Given the description of an element on the screen output the (x, y) to click on. 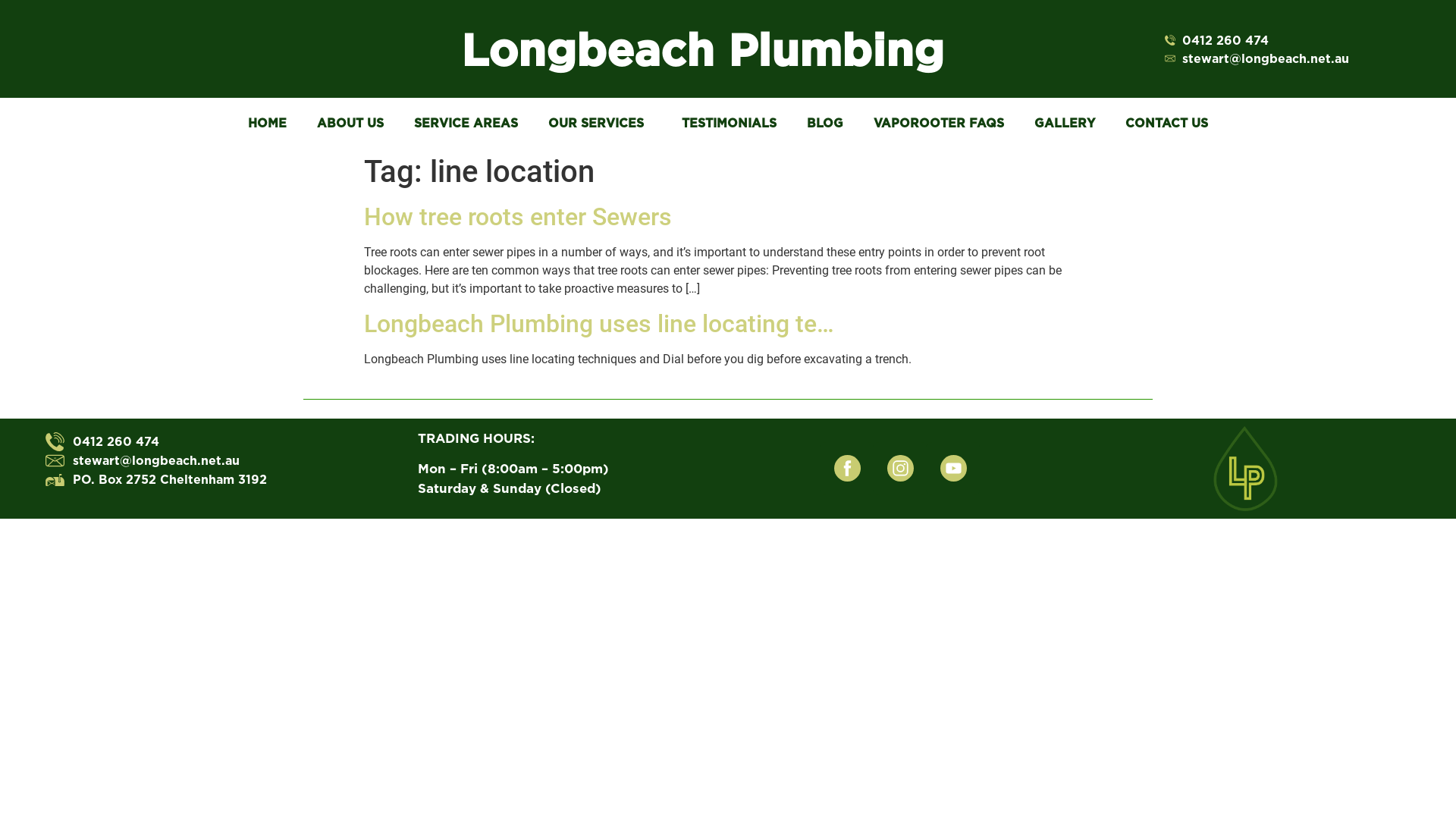
How tree roots enter Sewers Element type: text (517, 216)
BLOG Element type: text (824, 122)
Longbeach Plumbing Element type: text (702, 48)
VAPOROOTER FAQS Element type: text (938, 122)
HOME Element type: text (266, 122)
ABOUT US Element type: text (349, 122)
CONTACT US Element type: text (1166, 122)
TESTIMONIALS Element type: text (728, 122)
SERVICE AREAS Element type: text (465, 122)
GALLERY Element type: text (1064, 122)
OUR SERVICES Element type: text (599, 122)
